Given the description of an element on the screen output the (x, y) to click on. 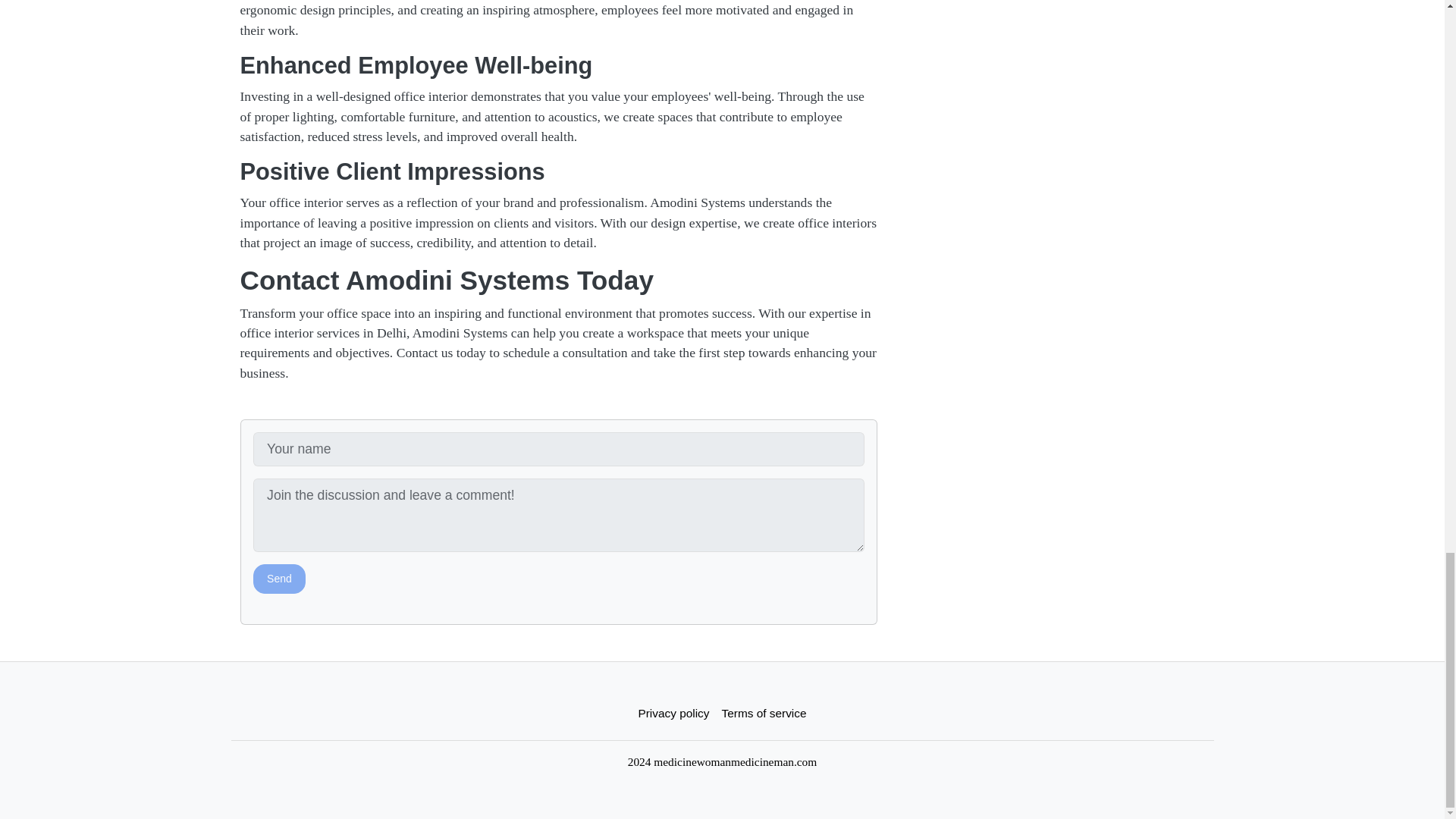
Send (279, 578)
Privacy policy (672, 713)
Terms of service (764, 713)
Send (279, 578)
